Given the description of an element on the screen output the (x, y) to click on. 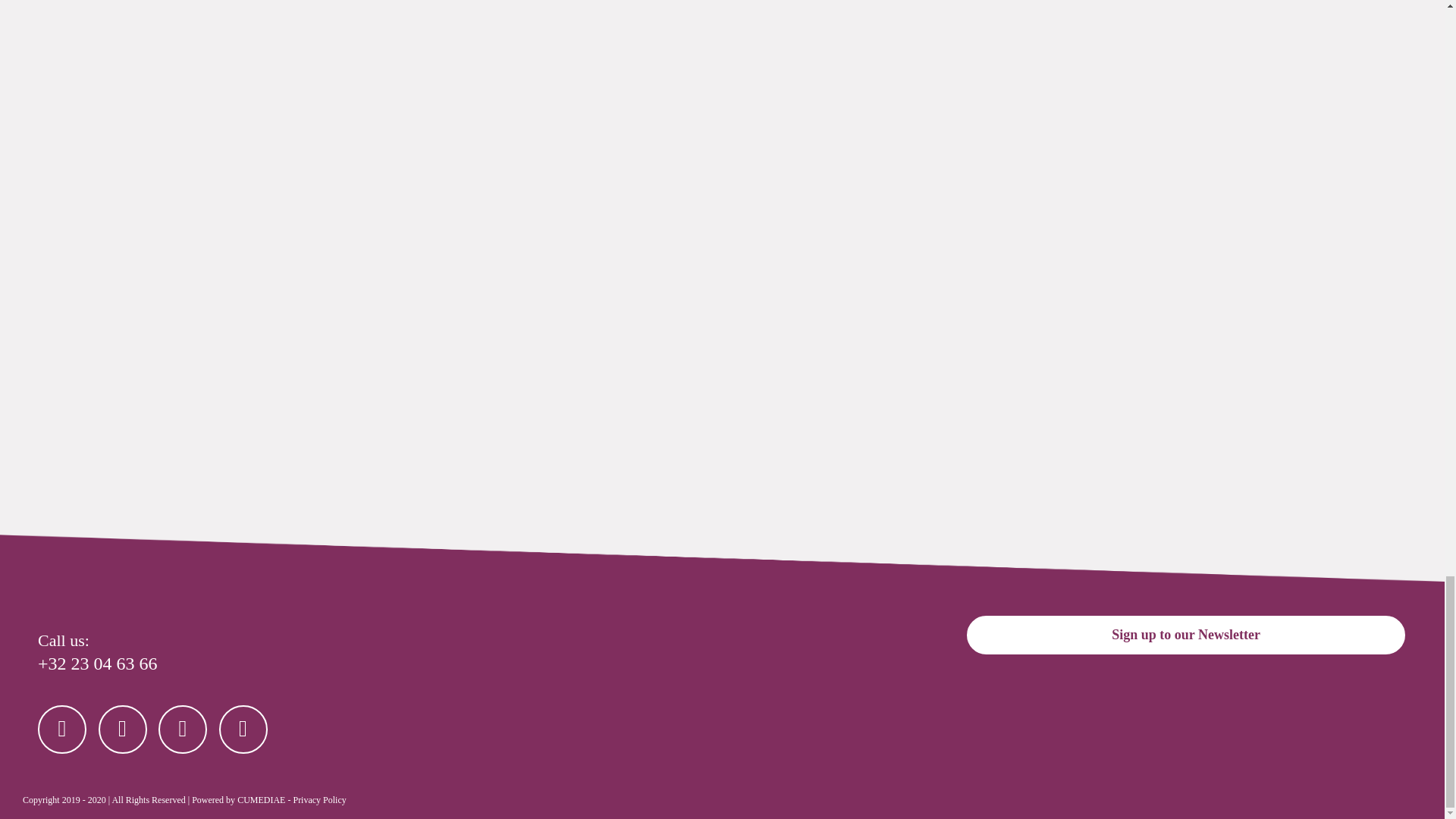
Instagram (182, 729)
LinkedIn (242, 729)
Facebook (61, 729)
Twitter (123, 729)
